Given the description of an element on the screen output the (x, y) to click on. 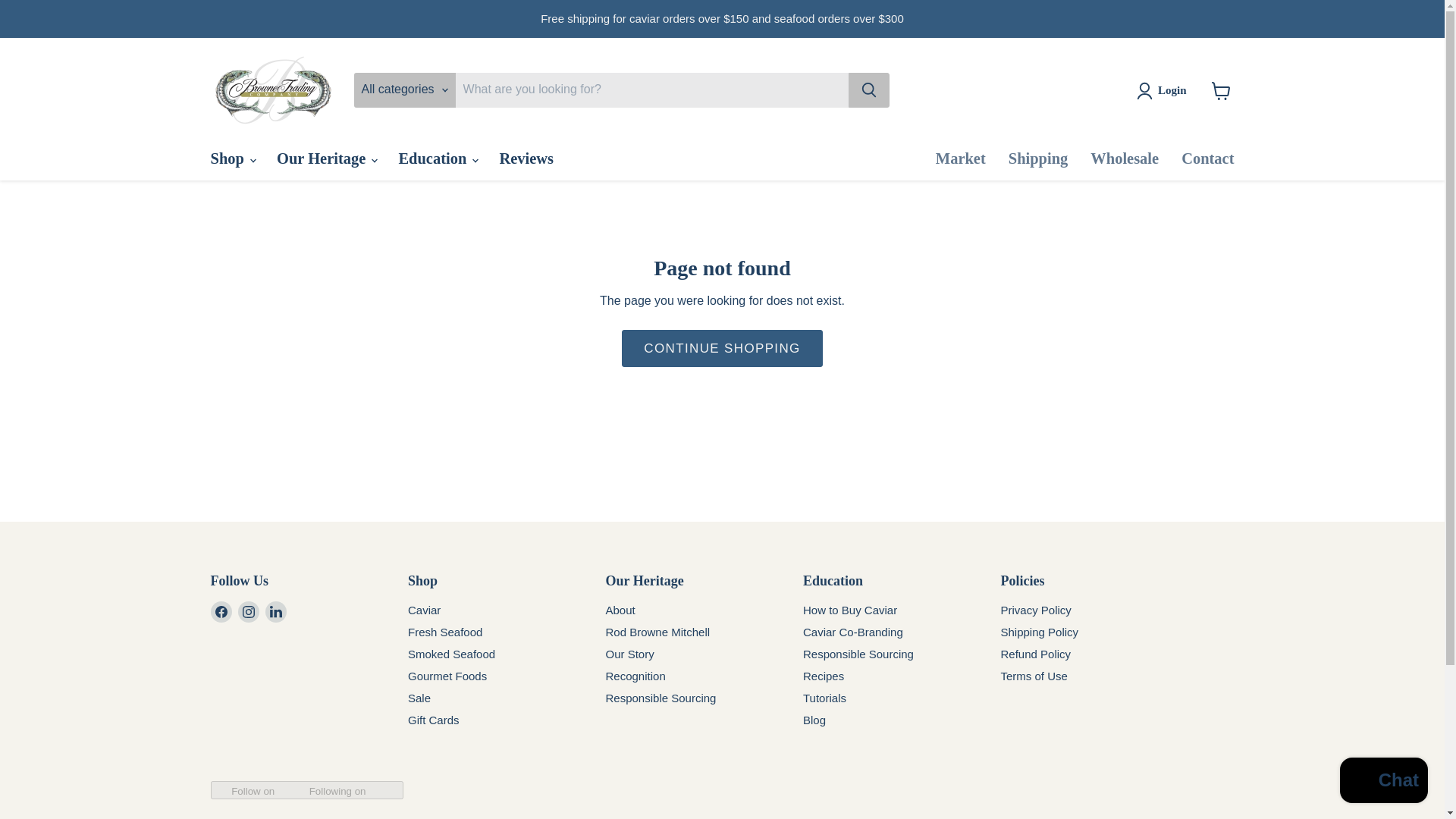
Facebook (221, 611)
LinkedIn (275, 611)
Shopify online store chat (1383, 781)
Instagram (248, 611)
Login (1164, 90)
View cart (1221, 90)
